Given the description of an element on the screen output the (x, y) to click on. 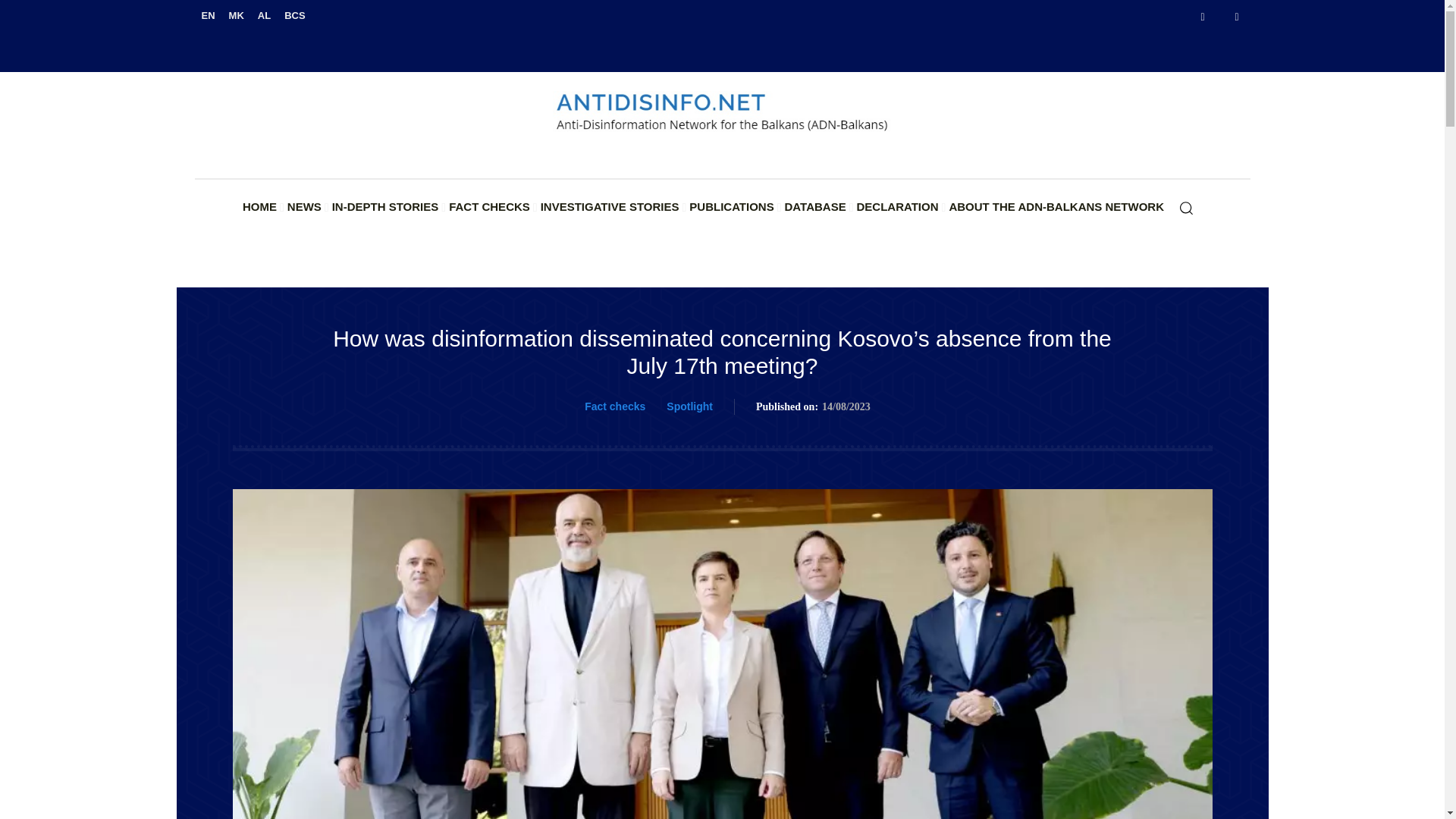
NEWS (303, 206)
Twitter (1237, 17)
BCS (294, 15)
Facebook (1202, 17)
MK (236, 15)
HOME (259, 206)
